Given the description of an element on the screen output the (x, y) to click on. 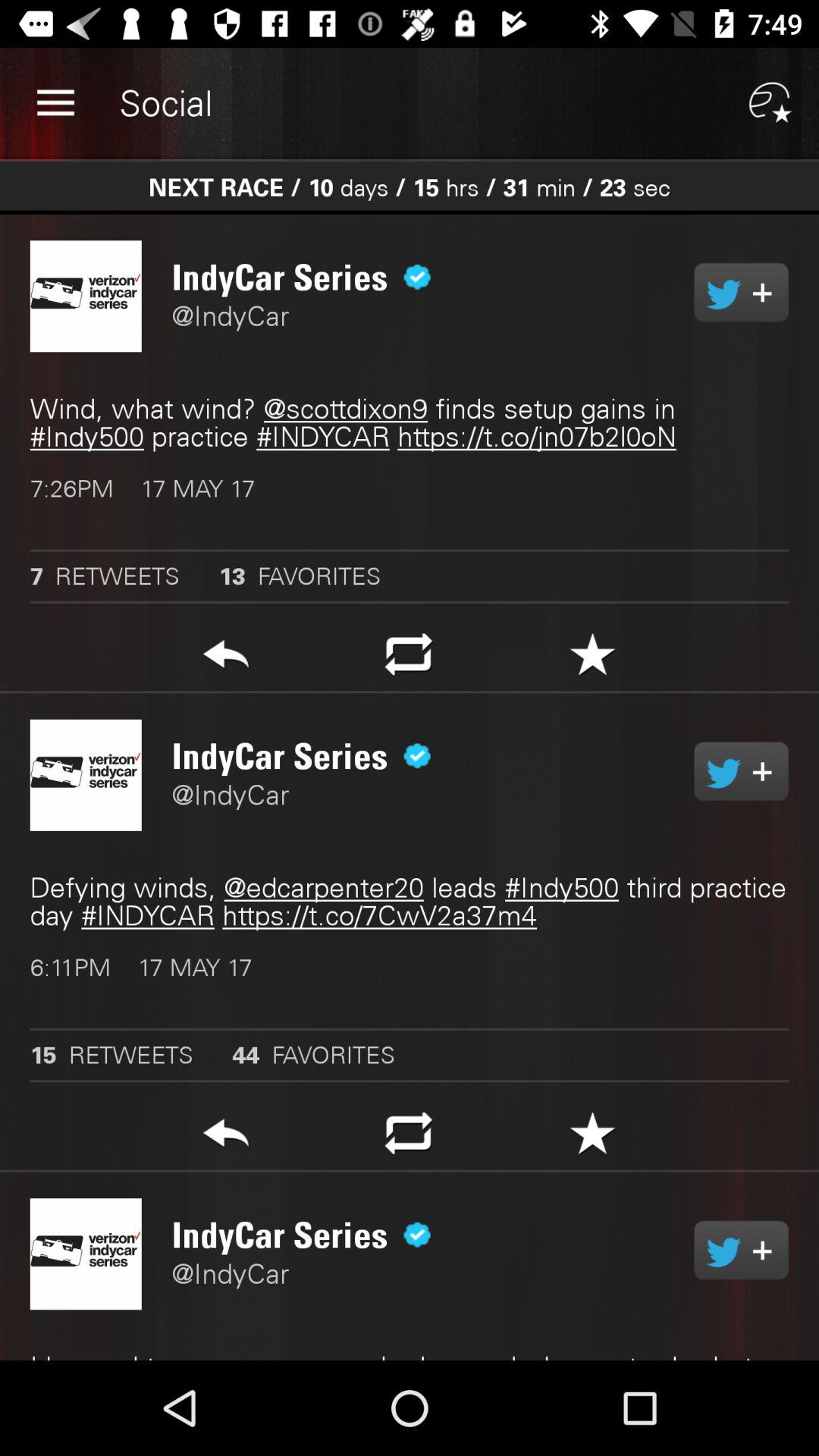
turn on the item to the left of social app (55, 103)
